Given the description of an element on the screen output the (x, y) to click on. 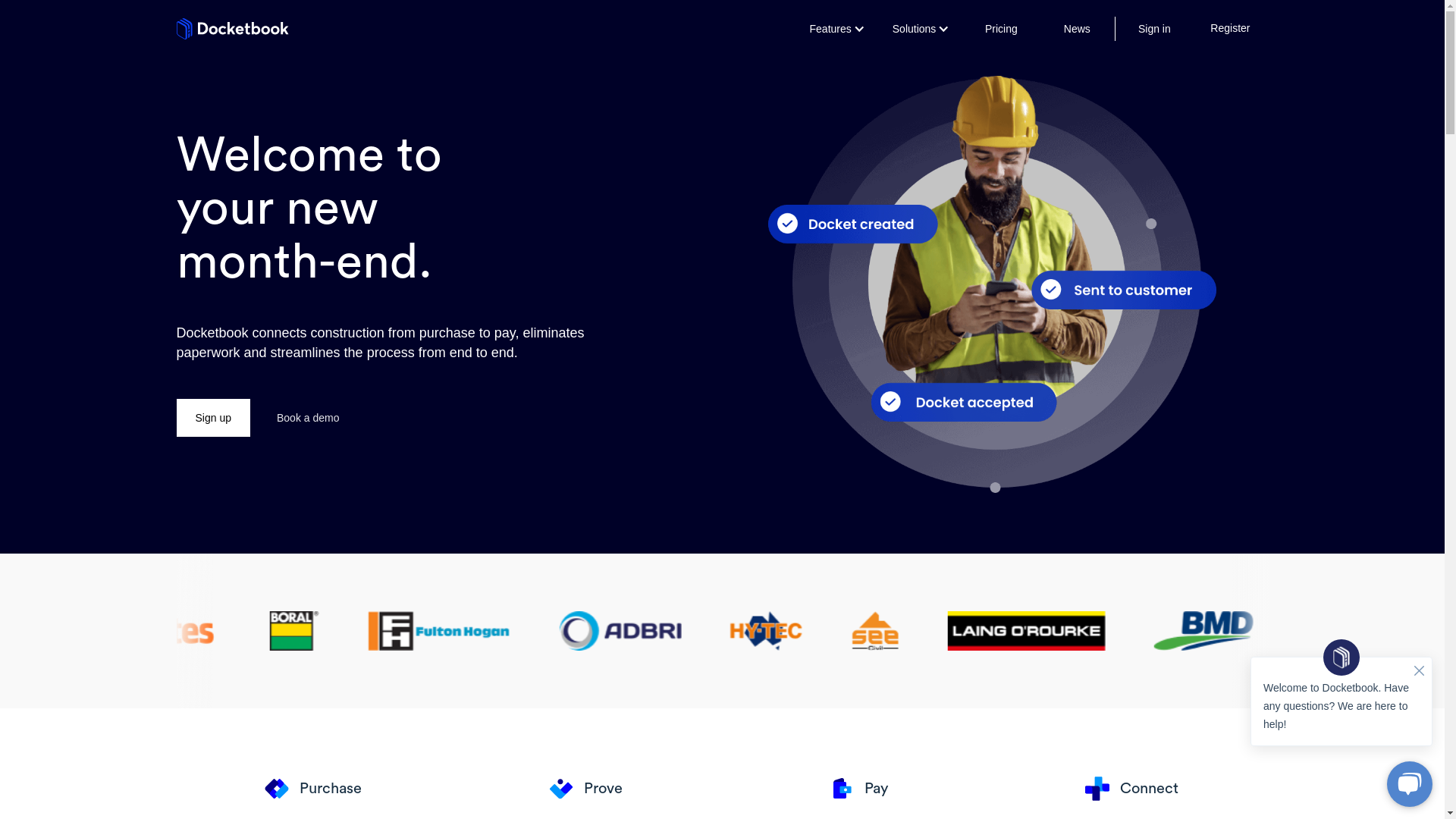
Sign up Element type: text (212, 417)
Pricing Element type: text (1000, 28)
Sign in Element type: text (1154, 28)
News Element type: text (1076, 28)
Register Element type: text (1229, 28)
Book a demo Element type: text (307, 417)
